Given the description of an element on the screen output the (x, y) to click on. 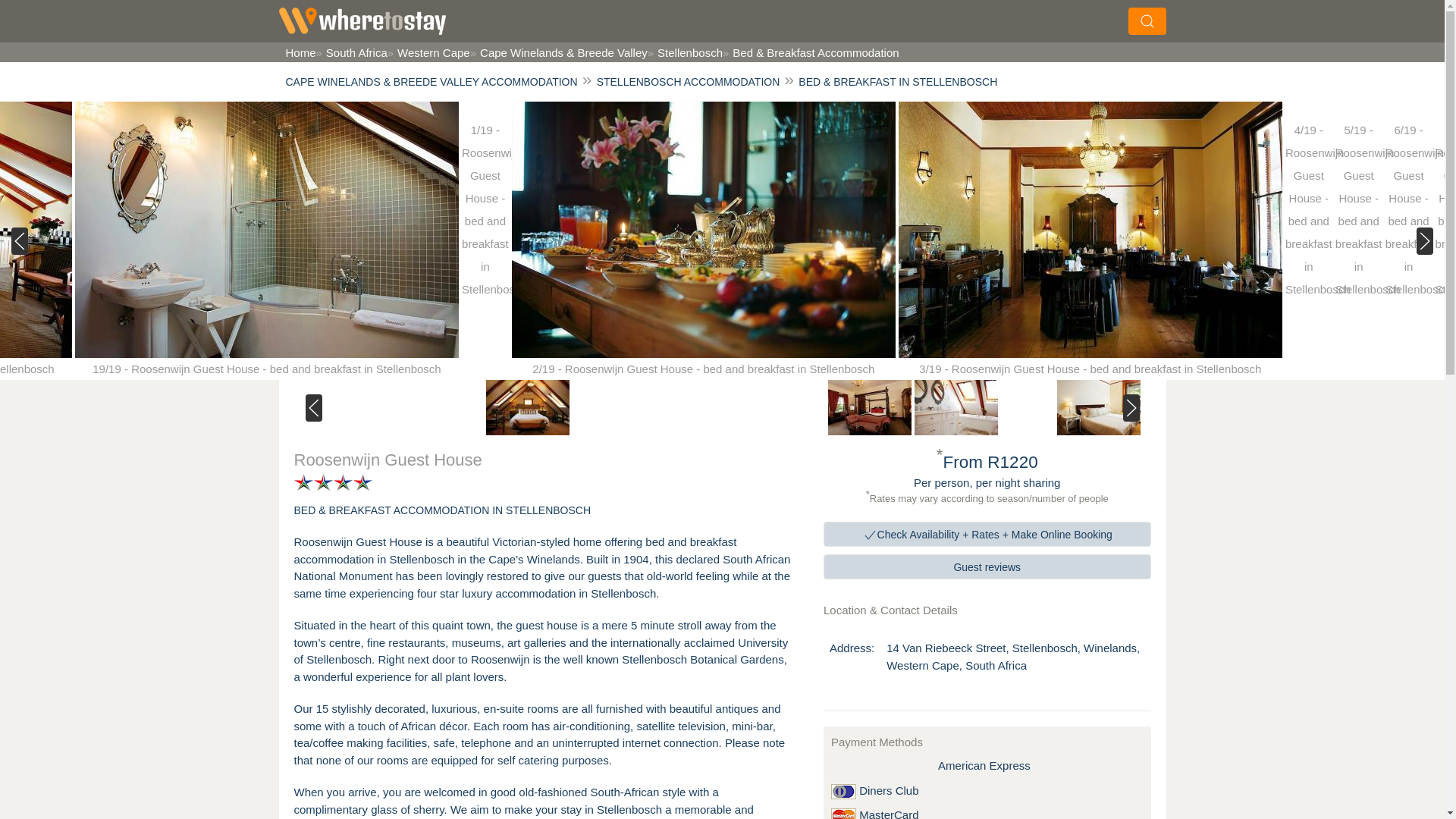
MasterCard (843, 813)
STELLENBOSCH ACCOMMODATION (688, 81)
Stellenbosch (684, 51)
Guest reviews (987, 565)
Where To Stay (362, 21)
Western Cape (428, 51)
Search (1003, 17)
South Africa (351, 51)
Home (298, 51)
Diners Club (843, 791)
